Given the description of an element on the screen output the (x, y) to click on. 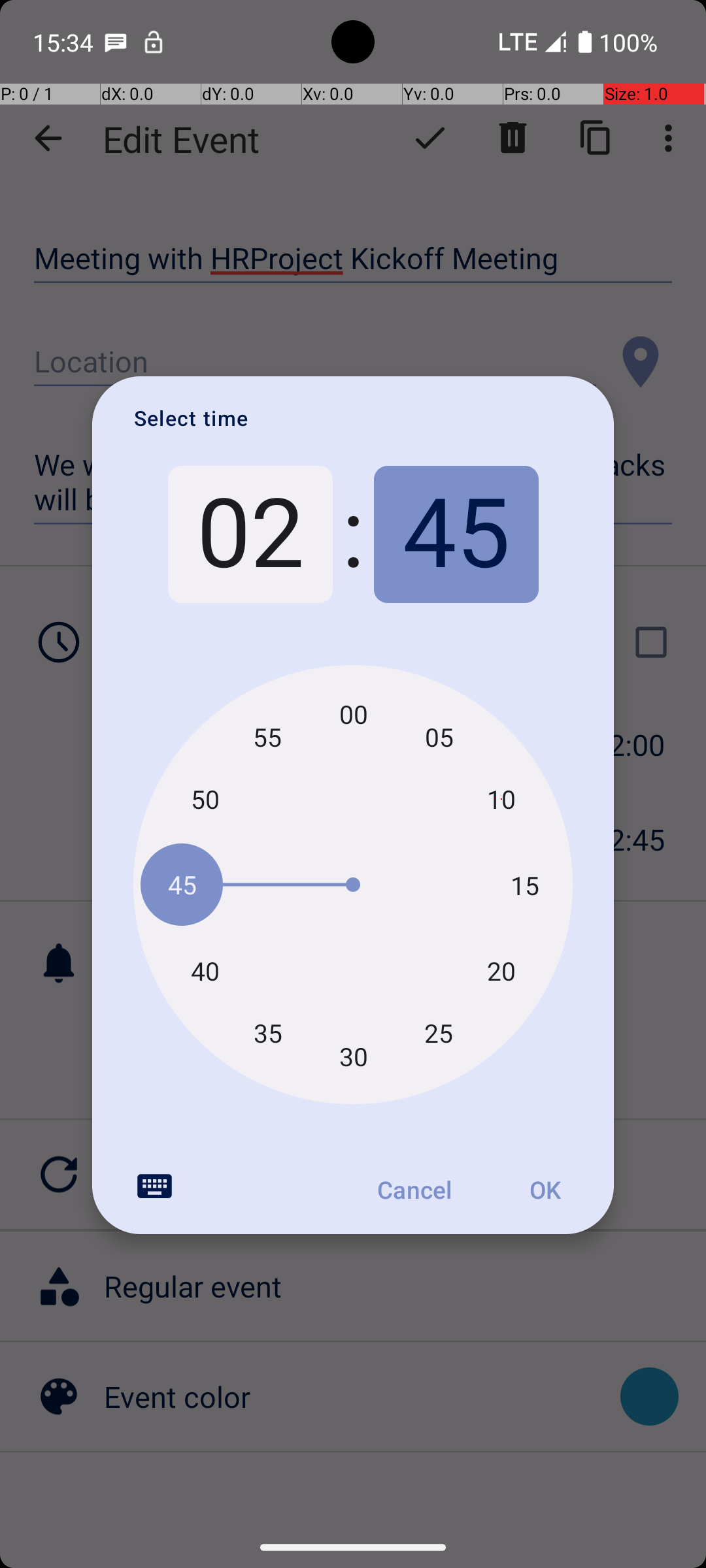
02 Element type: android.view.View (250, 534)
